Given the description of an element on the screen output the (x, y) to click on. 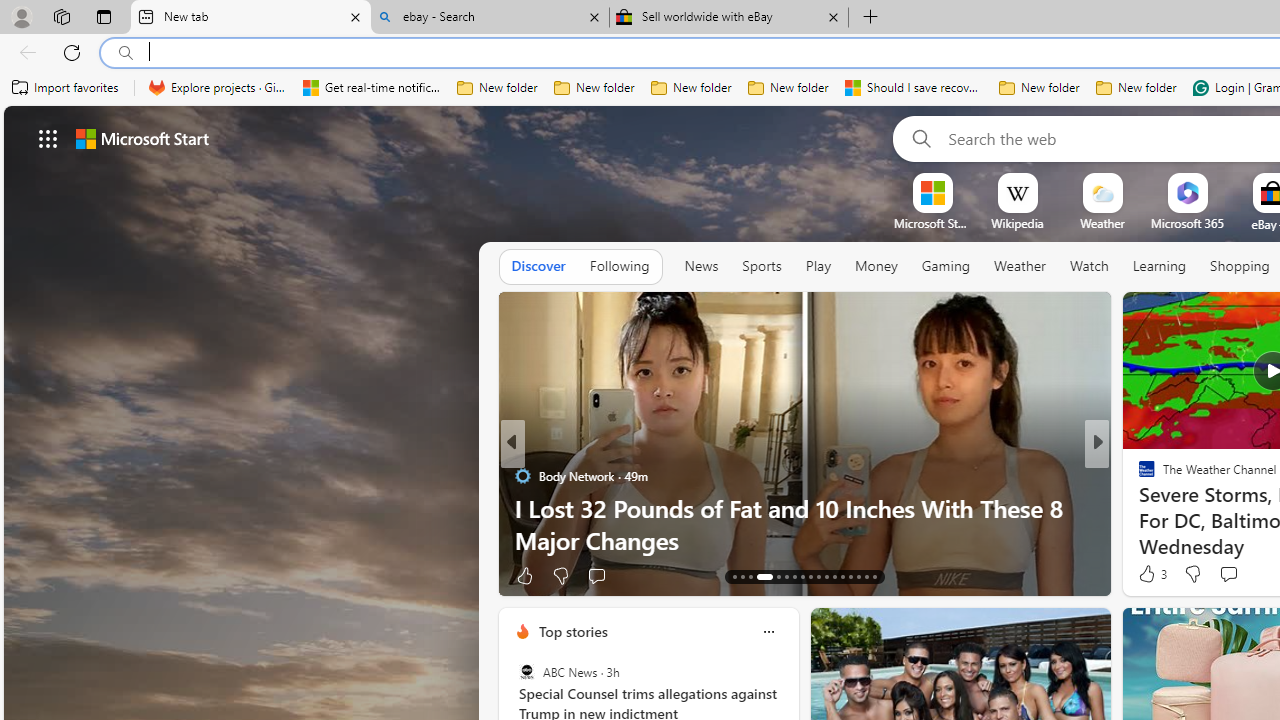
Shopping (1240, 265)
Sell worldwide with eBay (729, 17)
Learning (1159, 267)
Money (875, 265)
102 Like (1151, 574)
Ad (1142, 575)
13 Like (1149, 574)
ABC News (526, 672)
Import favorites (65, 88)
Sports (761, 265)
View comments 96 Comment (619, 575)
AutomationID: tab-26 (850, 576)
Following (619, 267)
